Given the description of an element on the screen output the (x, y) to click on. 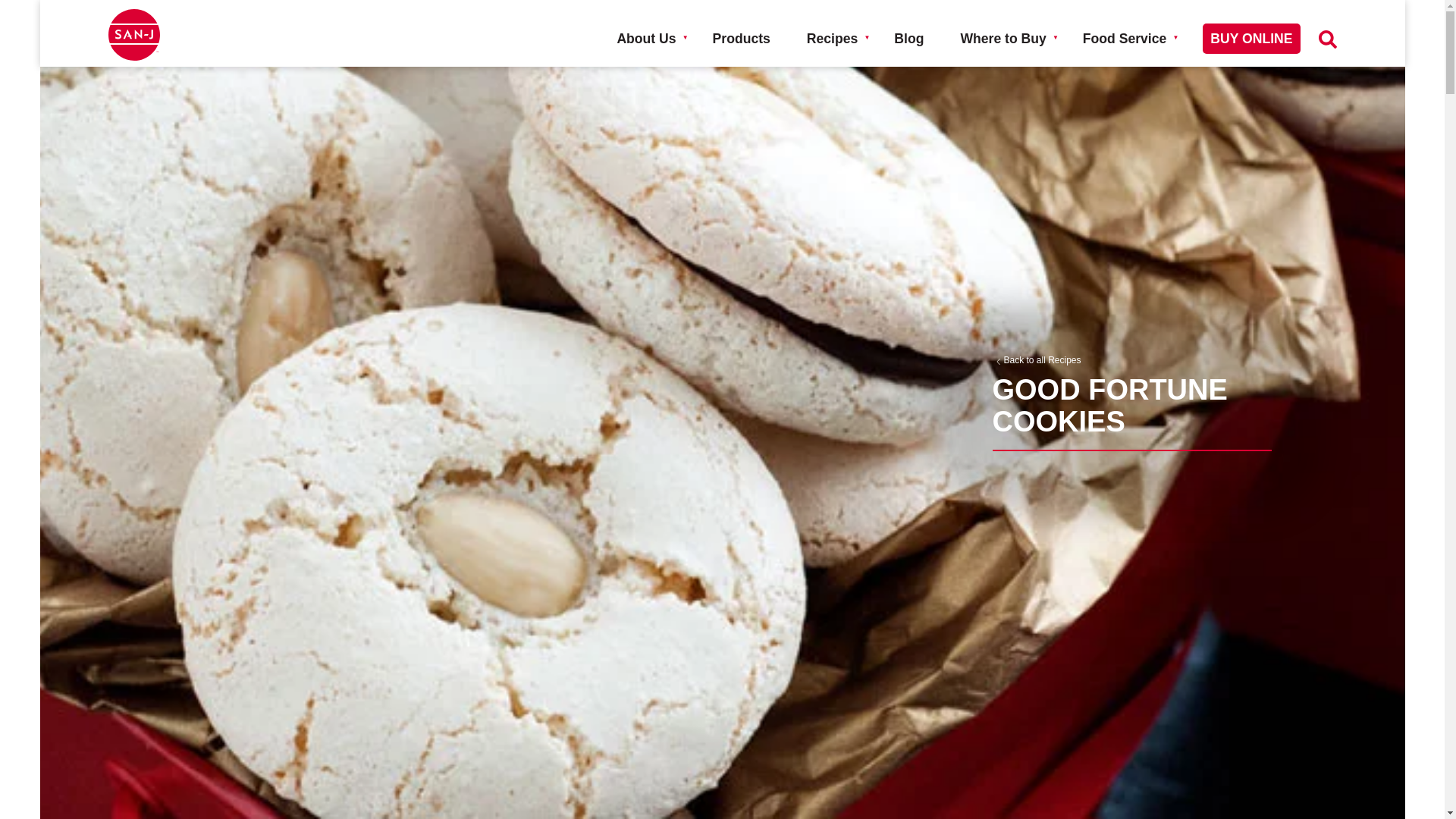
Home (132, 34)
About Us (645, 47)
Where to Buy (1002, 47)
Products (741, 47)
Recipes (831, 47)
Food Service (1125, 47)
Back to all Recipes (1131, 360)
BUY ONLINE (1251, 47)
